Given the description of an element on the screen output the (x, y) to click on. 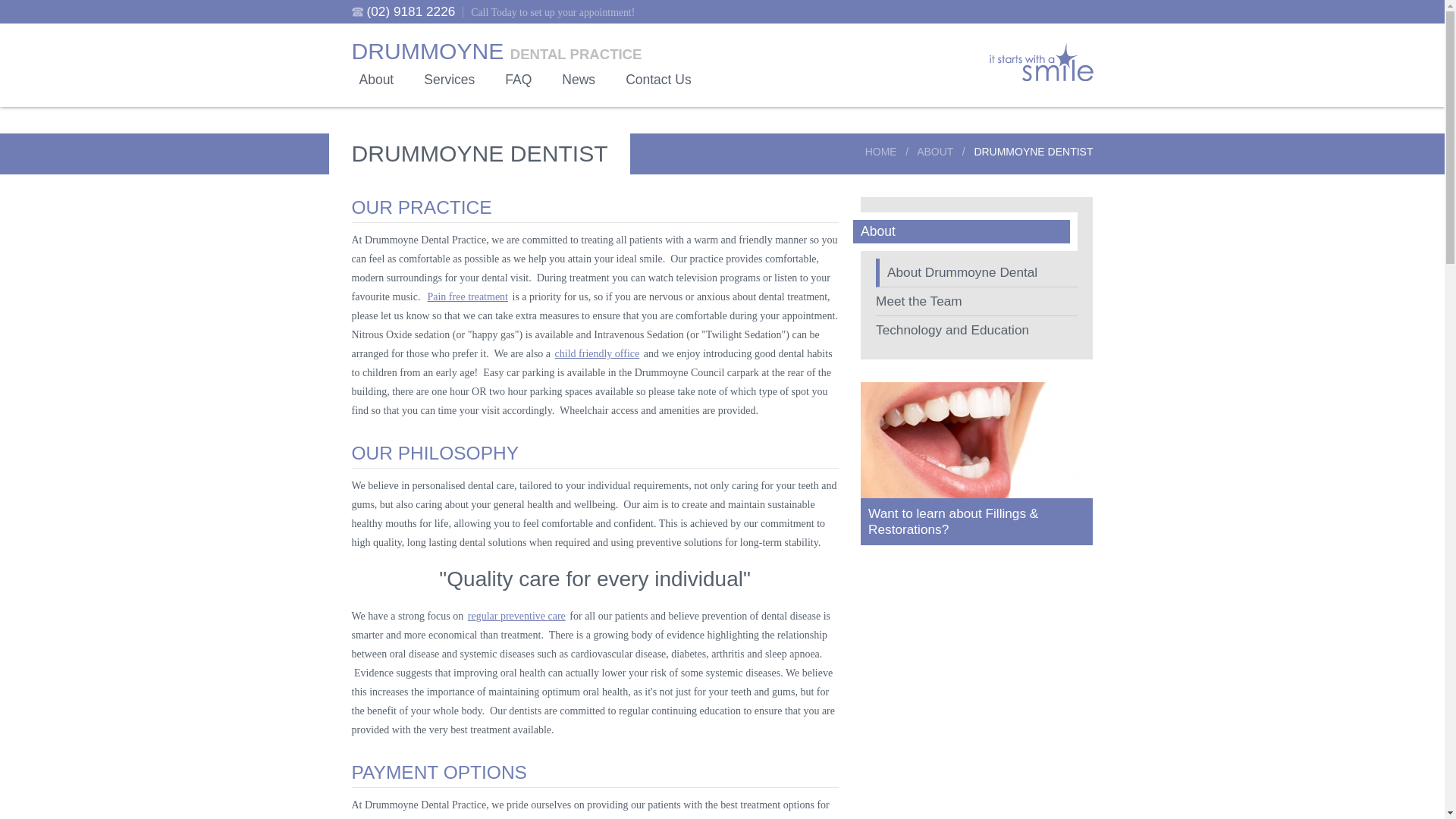
Fillings and Restorations - Beautiful White Smile Element type: hover (976, 440)
About Drummoyne Dental Element type: text (976, 272)
Contact Us Element type: text (658, 79)
News Element type: text (578, 79)
FAQ Element type: text (518, 79)
child friendly office Element type: text (597, 353)
Services Element type: text (449, 79)
Technology and Education Element type: text (976, 330)
regular preventive care Element type: text (516, 615)
About Element type: text (376, 79)
ABOUT Element type: text (934, 151)
DRUMMOYNE DENTAL PRACTICE Element type: text (496, 50)
Want to learn about Fillings & Restorations? Element type: text (976, 517)
Meet the Team Element type: text (976, 301)
Pain free treatment Element type: text (467, 296)
HOME Element type: text (881, 151)
